Given the description of an element on the screen output the (x, y) to click on. 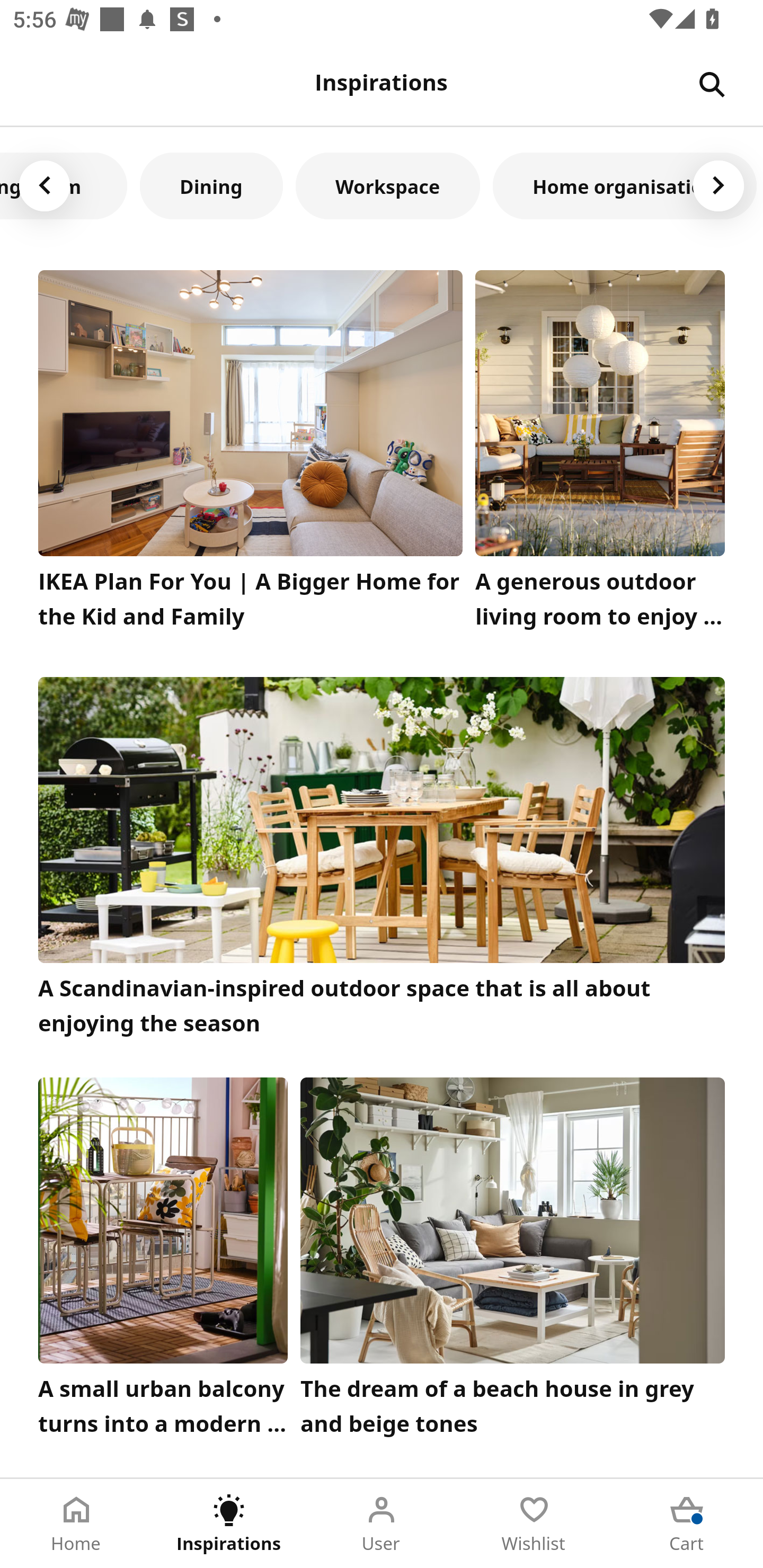
Dining (211, 185)
Workspace (387, 185)
Home organisation (624, 185)
The dream of a beach house in grey and beige tones (512, 1261)
Home
Tab 1 of 5 (76, 1522)
Inspirations
Tab 2 of 5 (228, 1522)
User
Tab 3 of 5 (381, 1522)
Wishlist
Tab 4 of 5 (533, 1522)
Cart
Tab 5 of 5 (686, 1522)
